Given the description of an element on the screen output the (x, y) to click on. 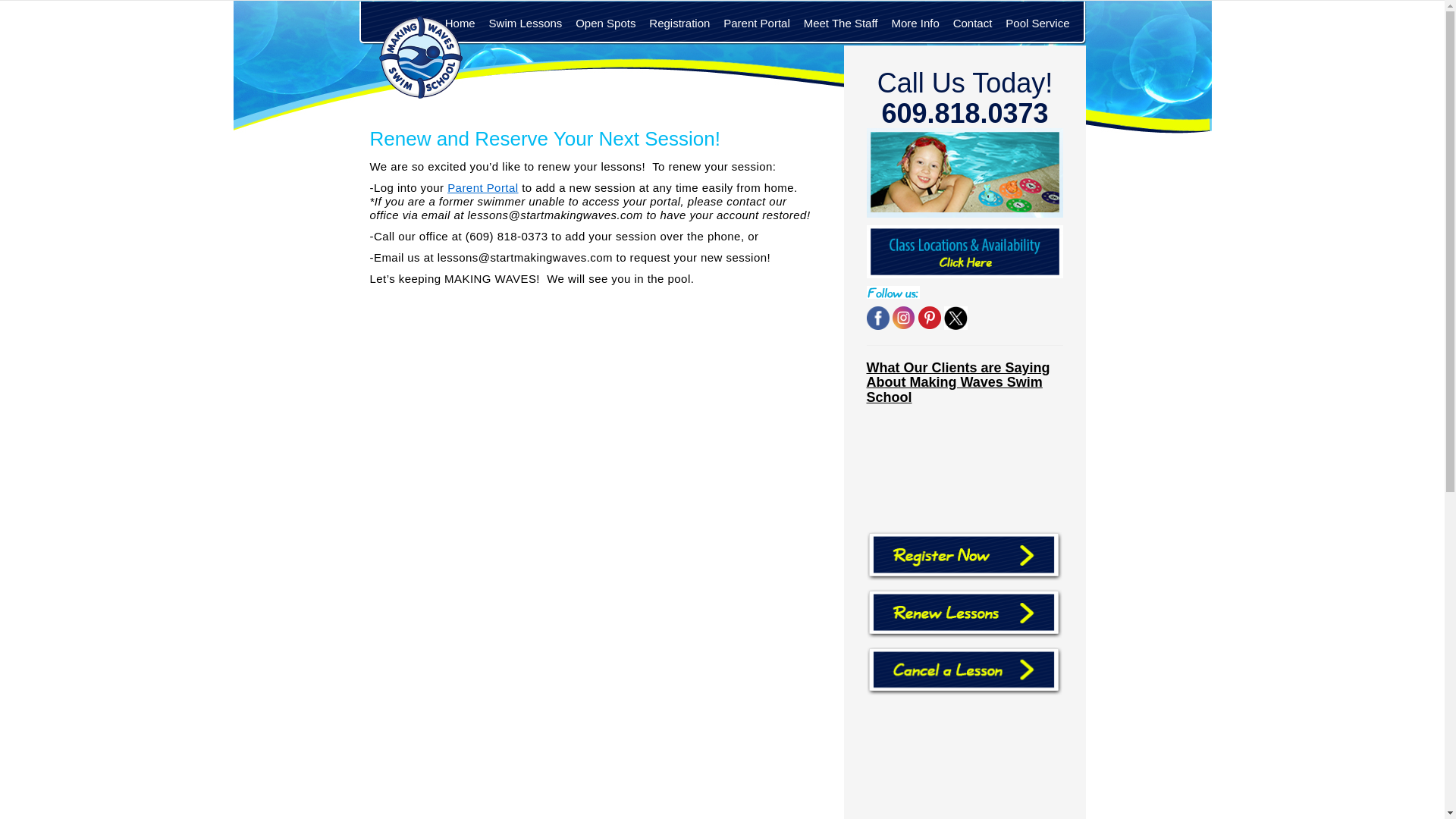
More Info (914, 23)
What Our Clients are Saying About Making Waves Swim School (957, 382)
Open Spots (605, 23)
Home (459, 23)
Swim Lessons (525, 23)
Registration (678, 23)
Contact (972, 23)
Meet The Staff (840, 23)
Parent Portal (482, 187)
Pool Service (1037, 23)
609.818.0373 (964, 112)
Parent Portal (755, 23)
